Given the description of an element on the screen output the (x, y) to click on. 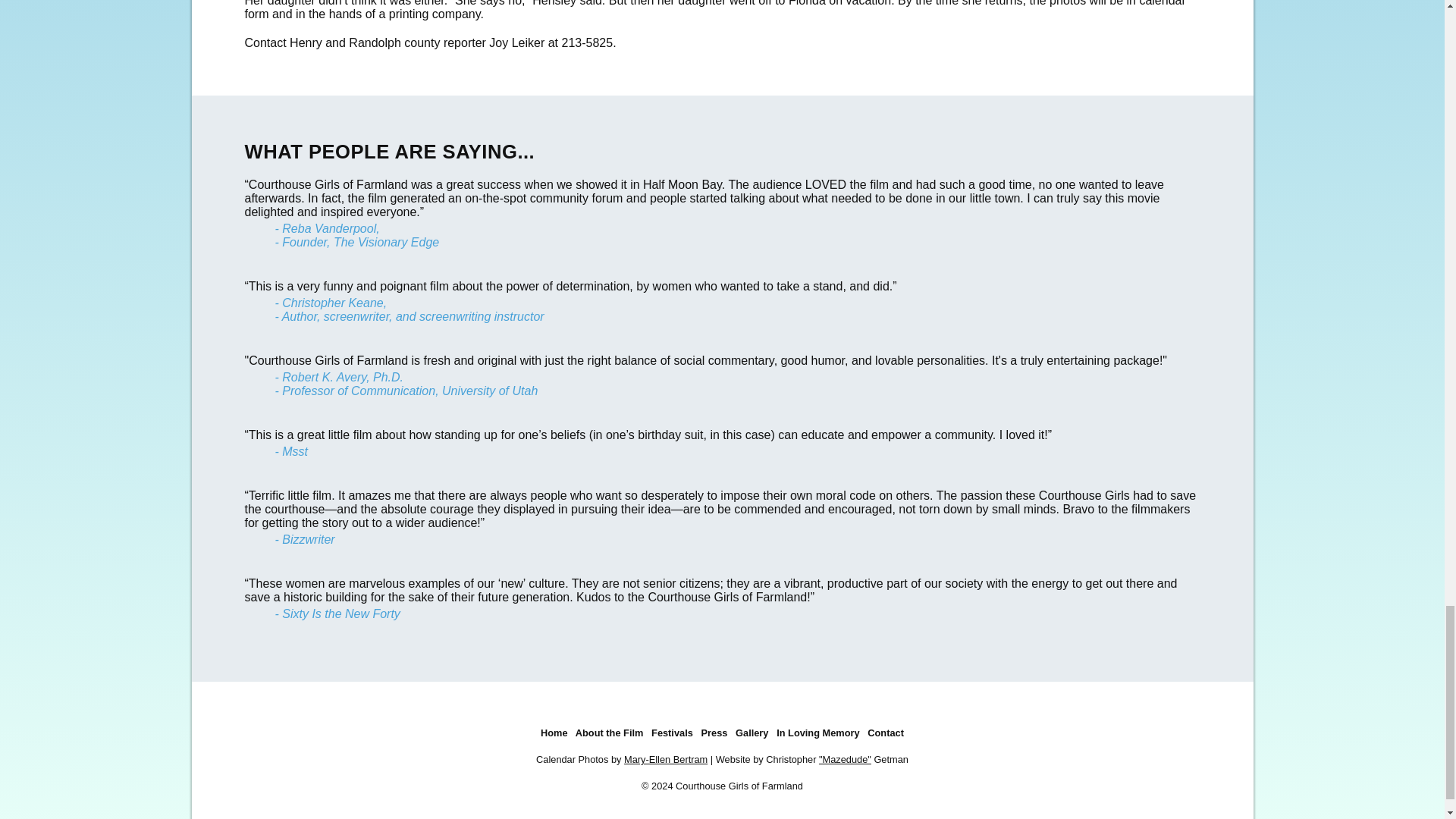
Press (714, 732)
"Mazedude" (844, 758)
Contact (885, 732)
About the Film (609, 732)
Gallery (751, 732)
Festivals (671, 732)
In Loving Memory (818, 732)
Home (553, 732)
Mary-Ellen Bertram (665, 758)
